Given the description of an element on the screen output the (x, y) to click on. 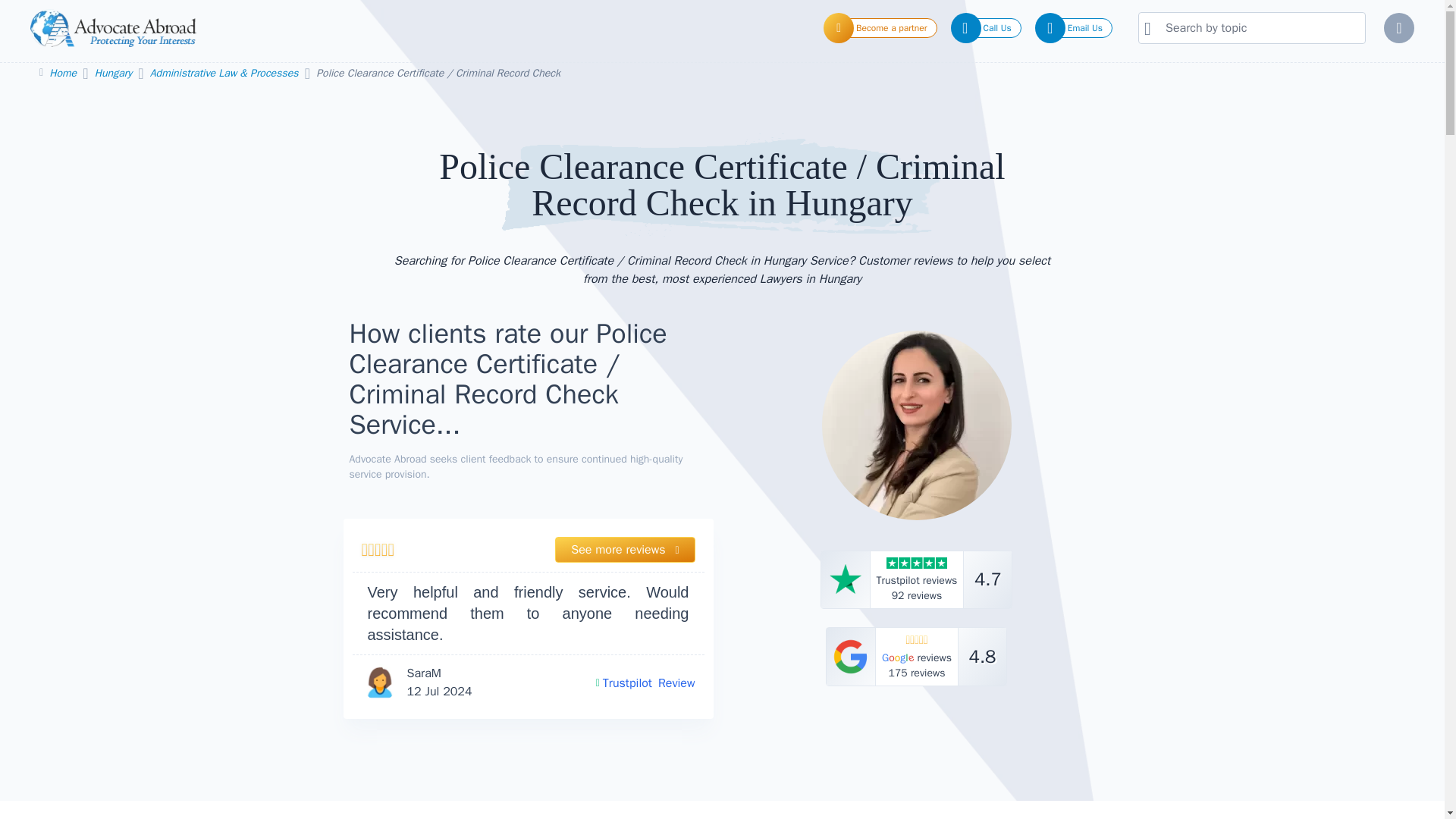
Hungary (114, 72)
See more reviews (624, 549)
Home (64, 72)
Services not selected (915, 579)
